Given the description of an element on the screen output the (x, y) to click on. 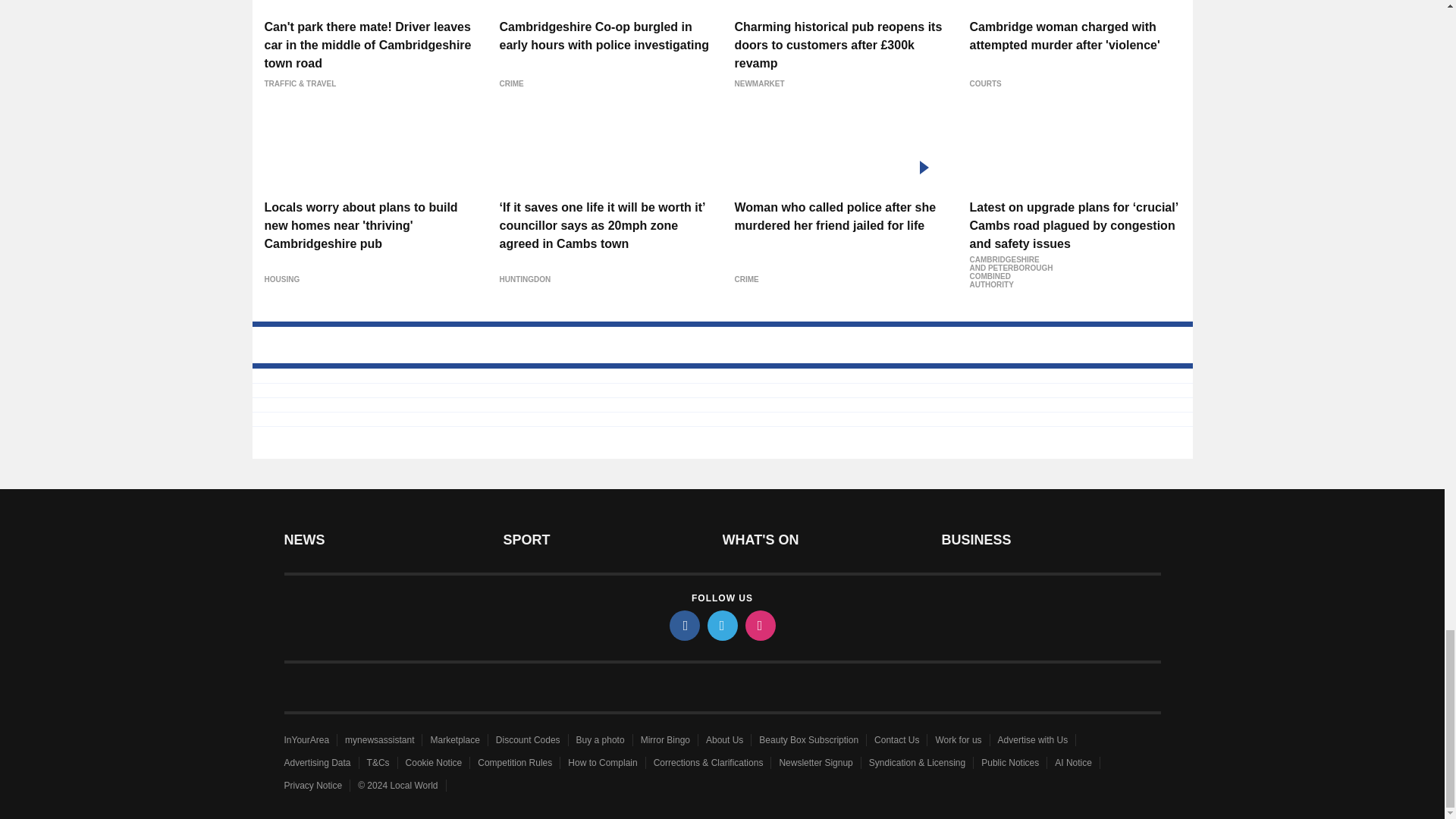
instagram (759, 625)
twitter (721, 625)
facebook (683, 625)
